Given the description of an element on the screen output the (x, y) to click on. 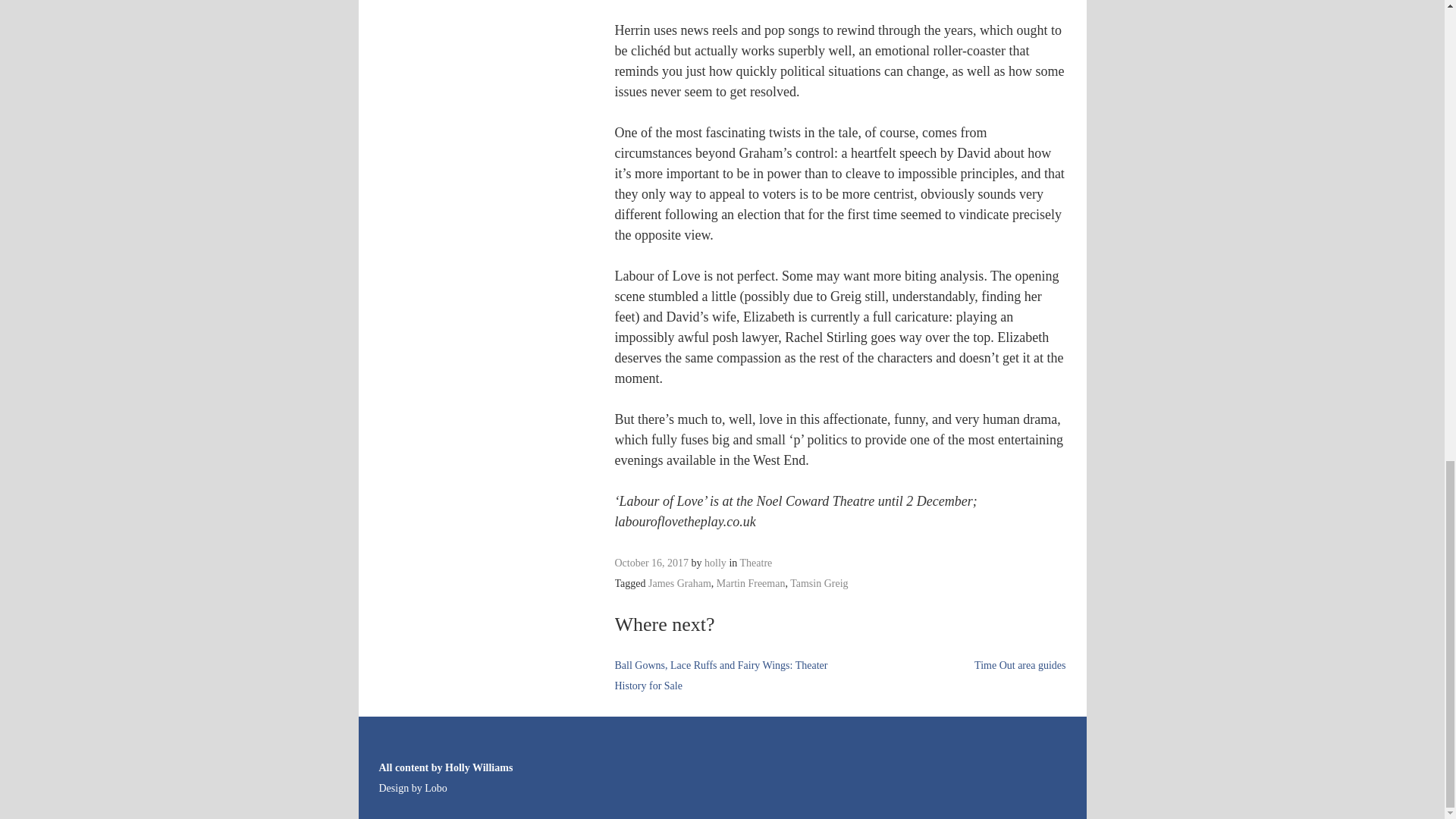
October 16, 2017 (651, 562)
James Graham (679, 583)
Lobo (435, 787)
holly (715, 562)
